Given the description of an element on the screen output the (x, y) to click on. 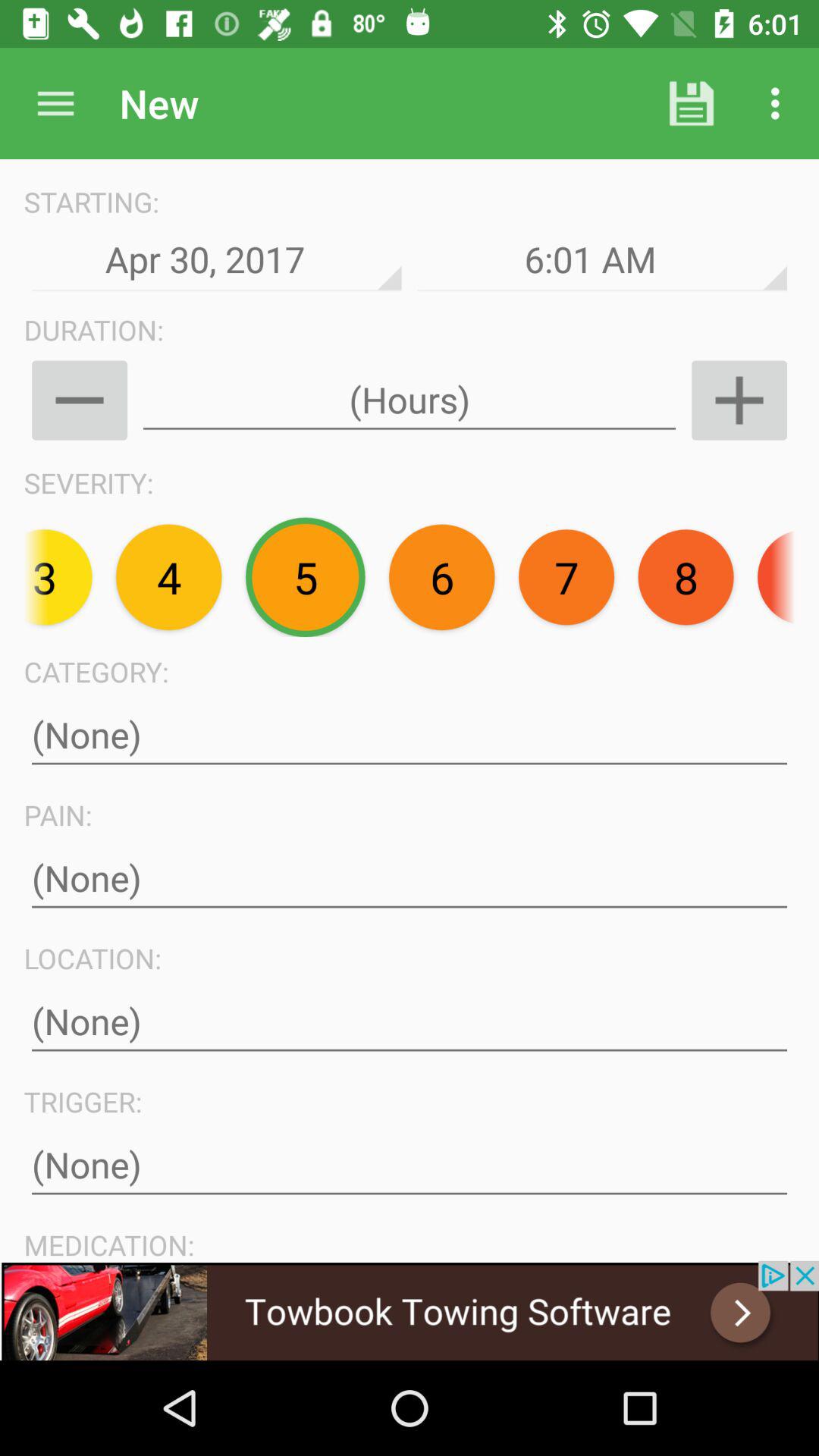
click to the enter the location (409, 1021)
